Given the description of an element on the screen output the (x, y) to click on. 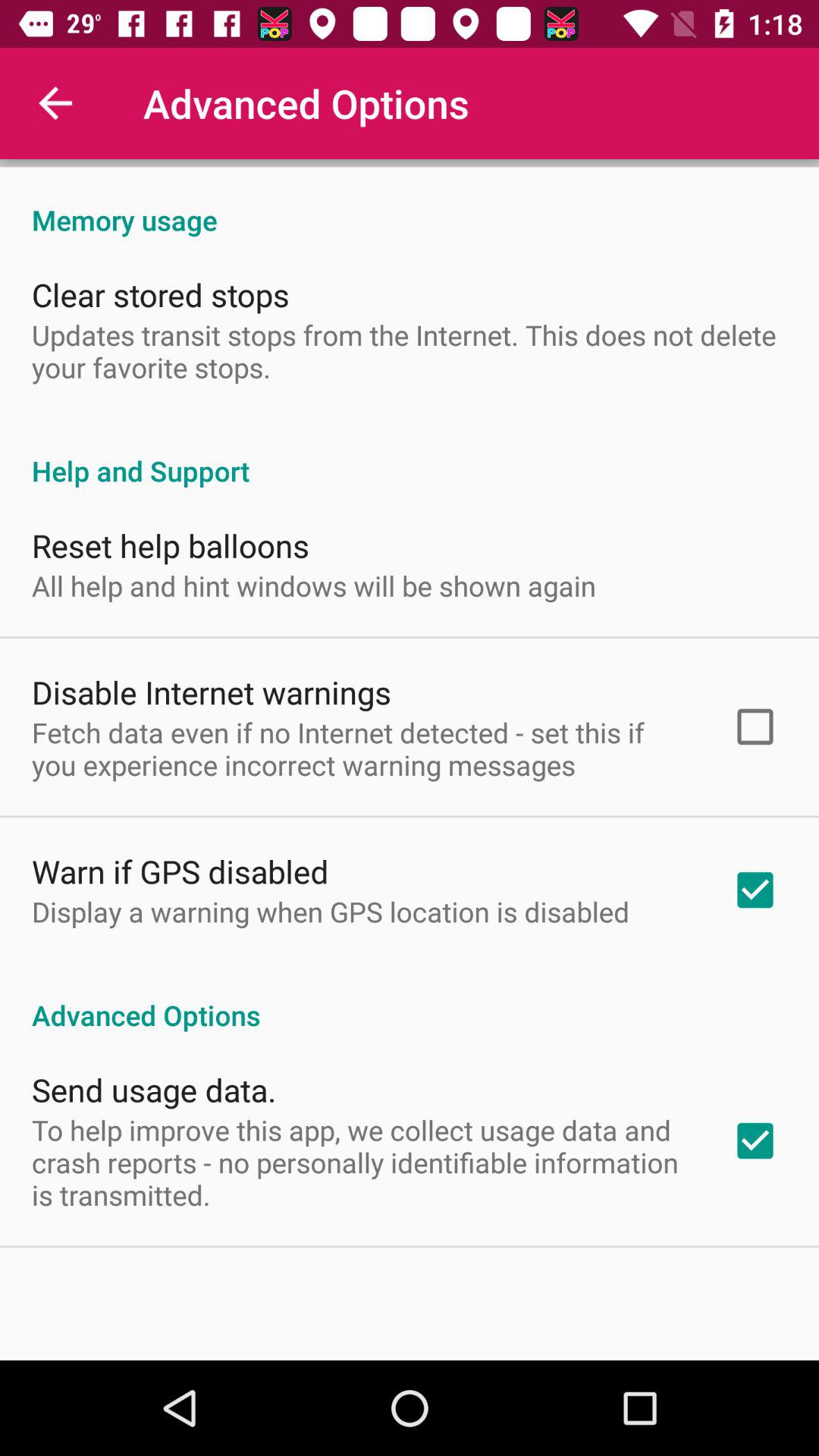
choose the item below all help and icon (211, 691)
